Given the description of an element on the screen output the (x, y) to click on. 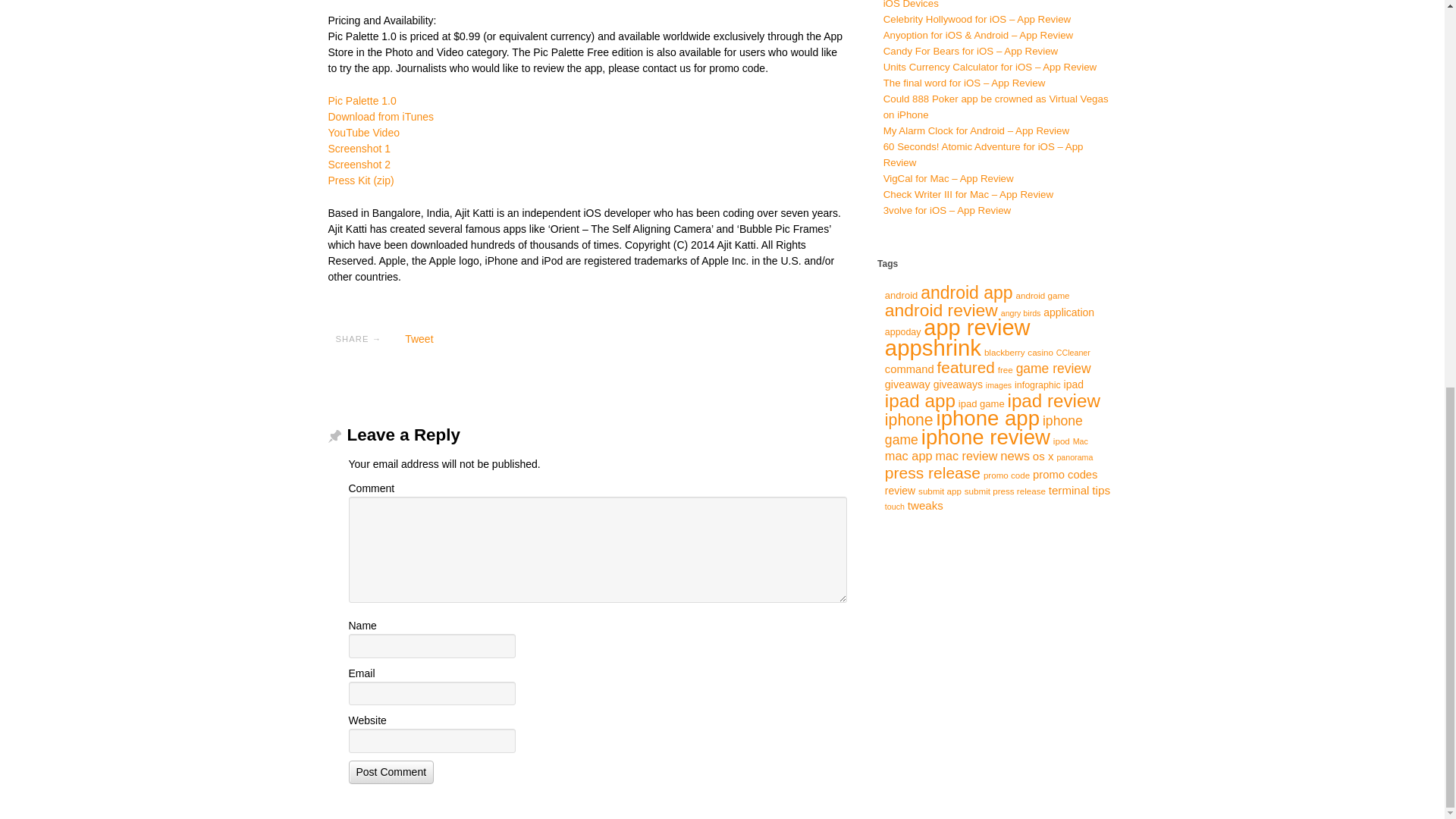
Pic Palette 1.0 (361, 101)
Screenshot 2 (358, 164)
Post Comment (391, 771)
Pic Palette 1.0 (361, 101)
YouTube Video (362, 132)
Tweet (418, 337)
Screenshot 1 (358, 148)
Screenshot 2 (358, 164)
YouTube Video (362, 132)
Screenshot 1 (358, 148)
